Given the description of an element on the screen output the (x, y) to click on. 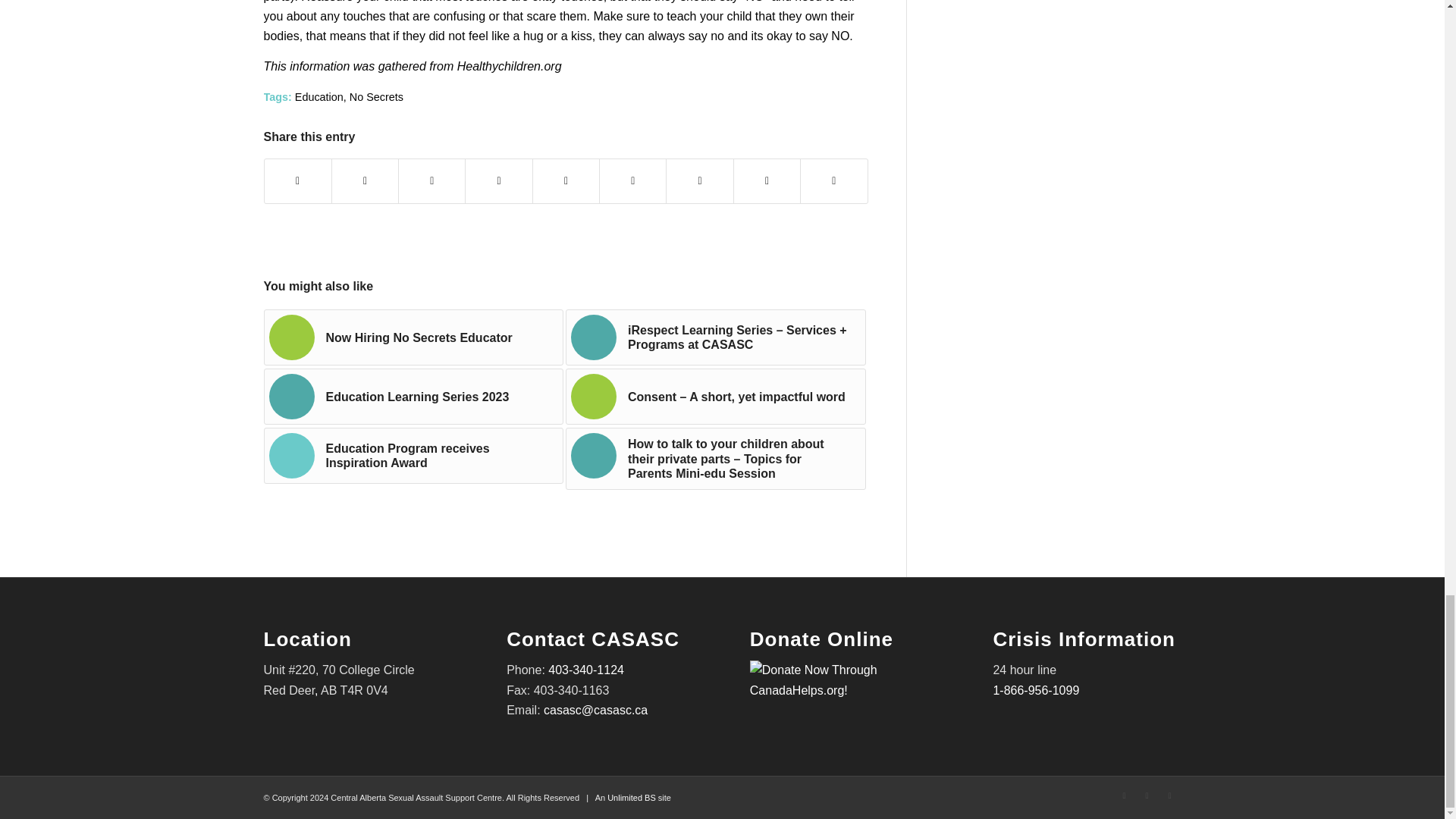
Now Hiring No Secrets Educator (413, 337)
Education Learning Series 2023 (413, 396)
No Secrets (376, 96)
Education (319, 96)
